Given the description of an element on the screen output the (x, y) to click on. 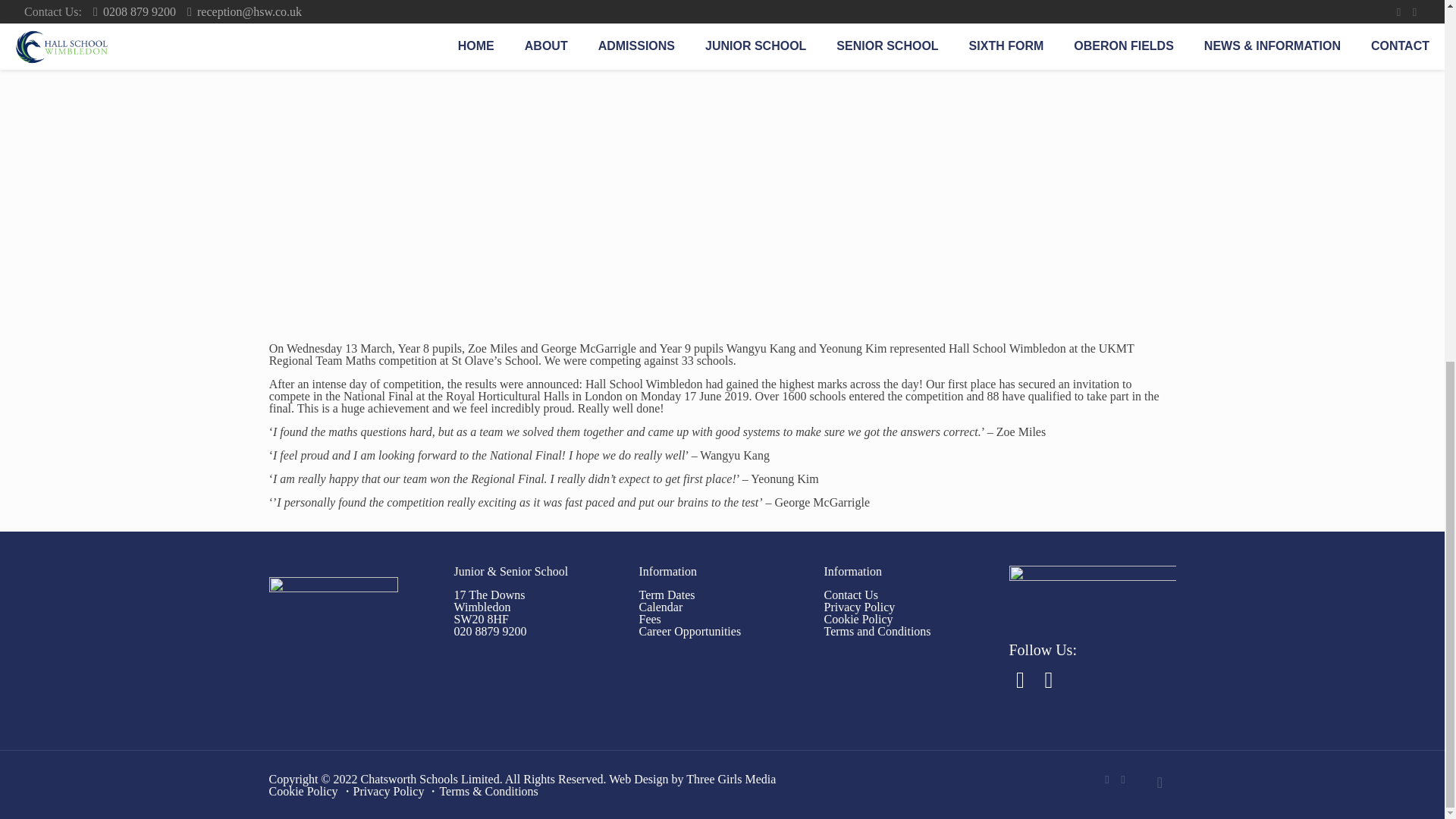
LinkedIn (1123, 779)
Privacy Policy (666, 594)
Cookie Policy (650, 618)
Cookie Policy (858, 618)
